Given the description of an element on the screen output the (x, y) to click on. 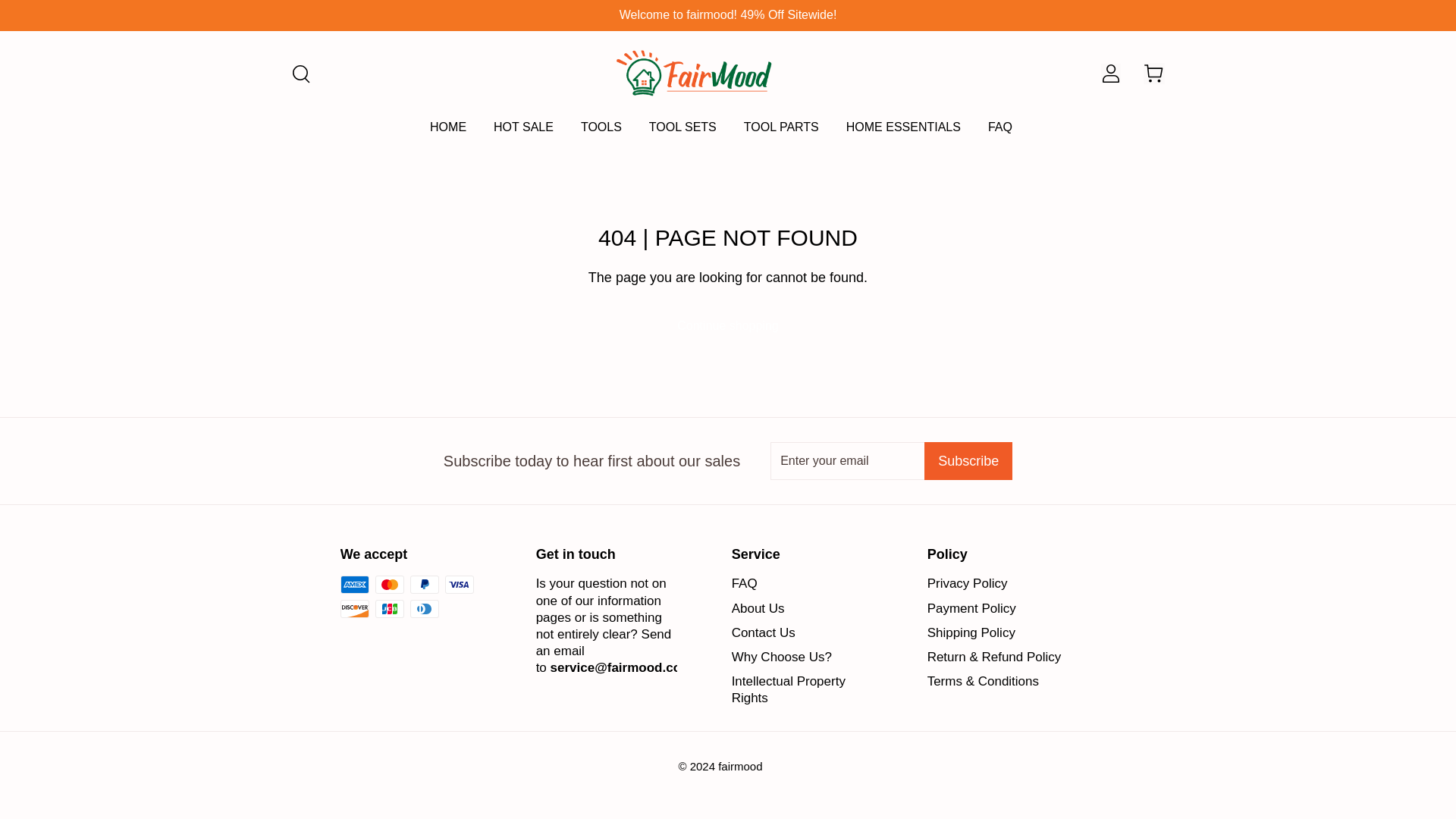
HOME (447, 133)
HOT SALE (523, 133)
TOOL PARTS (781, 133)
TOOLS (600, 133)
HOME ESSENTIALS (902, 133)
About Us (758, 607)
Continue shopping (727, 326)
TOOL SETS (682, 133)
Subscribe (967, 460)
FAQ (744, 583)
